Given the description of an element on the screen output the (x, y) to click on. 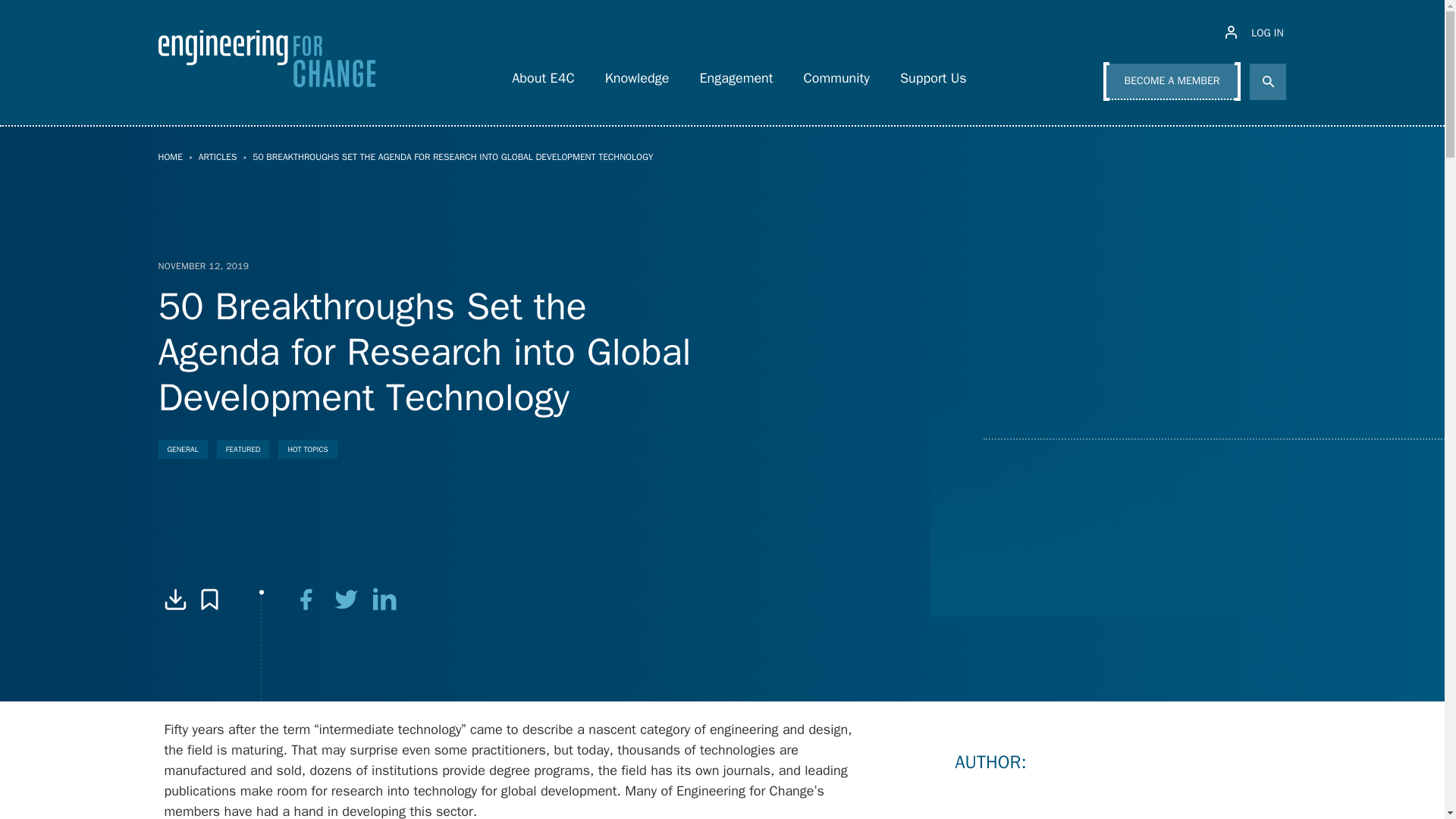
Log in to bookmark (209, 599)
twitter (345, 598)
Community (837, 73)
Download (174, 599)
facebook (306, 598)
BECOME A MEMBER (1172, 81)
linkedin (384, 598)
Support Us (933, 73)
Knowledge (636, 73)
About E4C (542, 73)
